Given the description of an element on the screen output the (x, y) to click on. 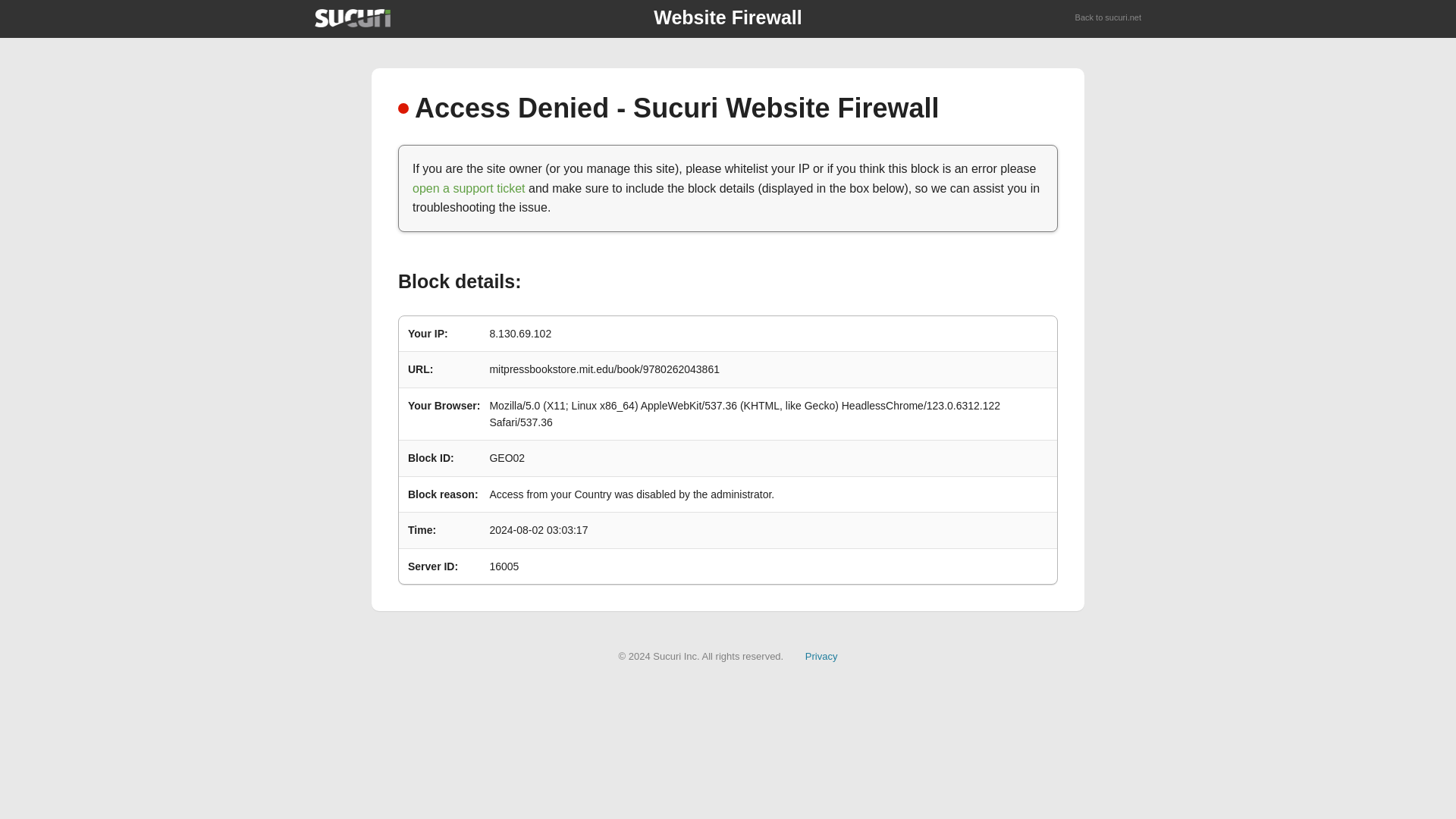
Back to sucuri.net (1108, 18)
open a support ticket (468, 187)
Privacy (821, 655)
